Given the description of an element on the screen output the (x, y) to click on. 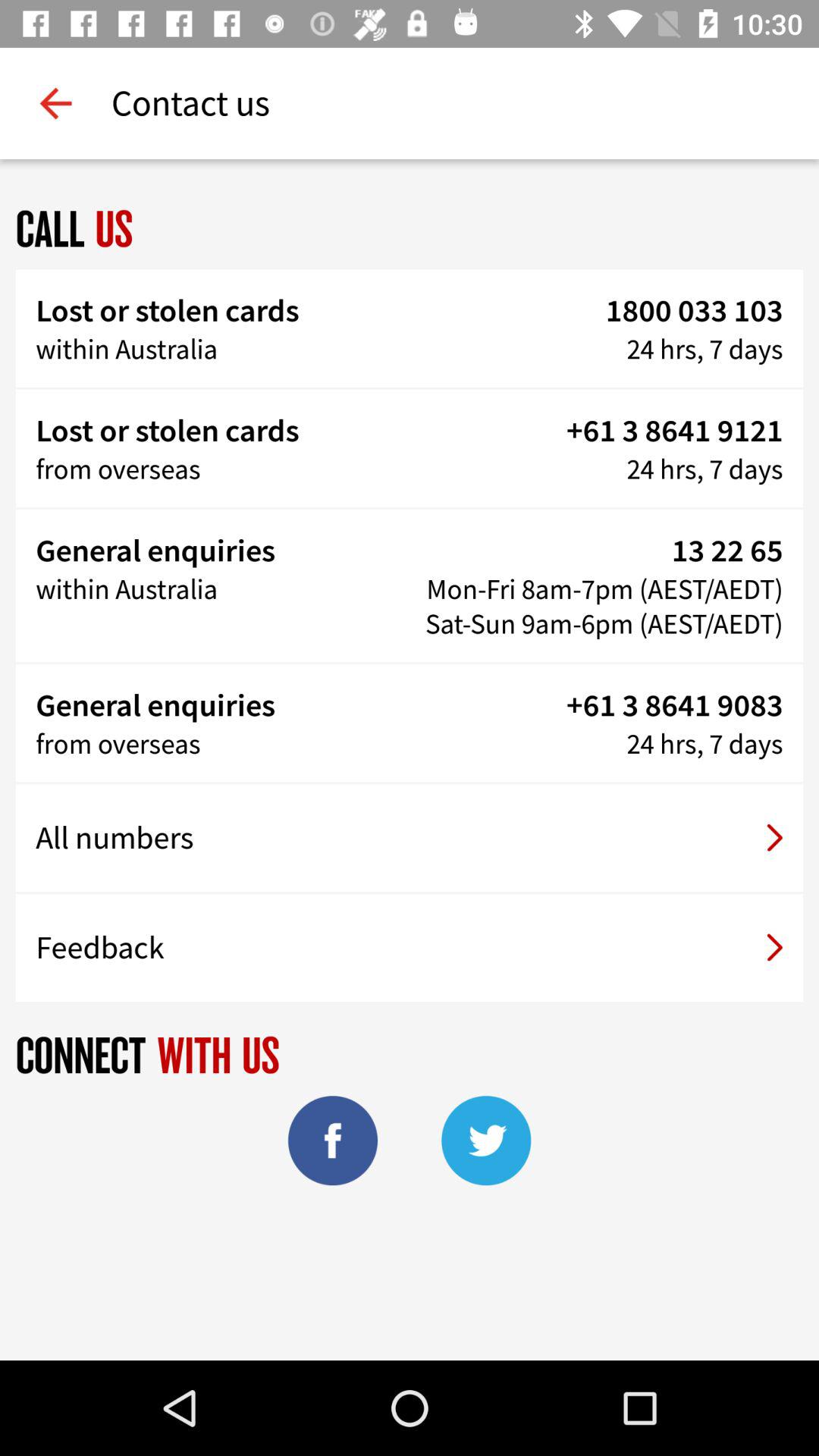
click the all numbers icon (409, 837)
